Given the description of an element on the screen output the (x, y) to click on. 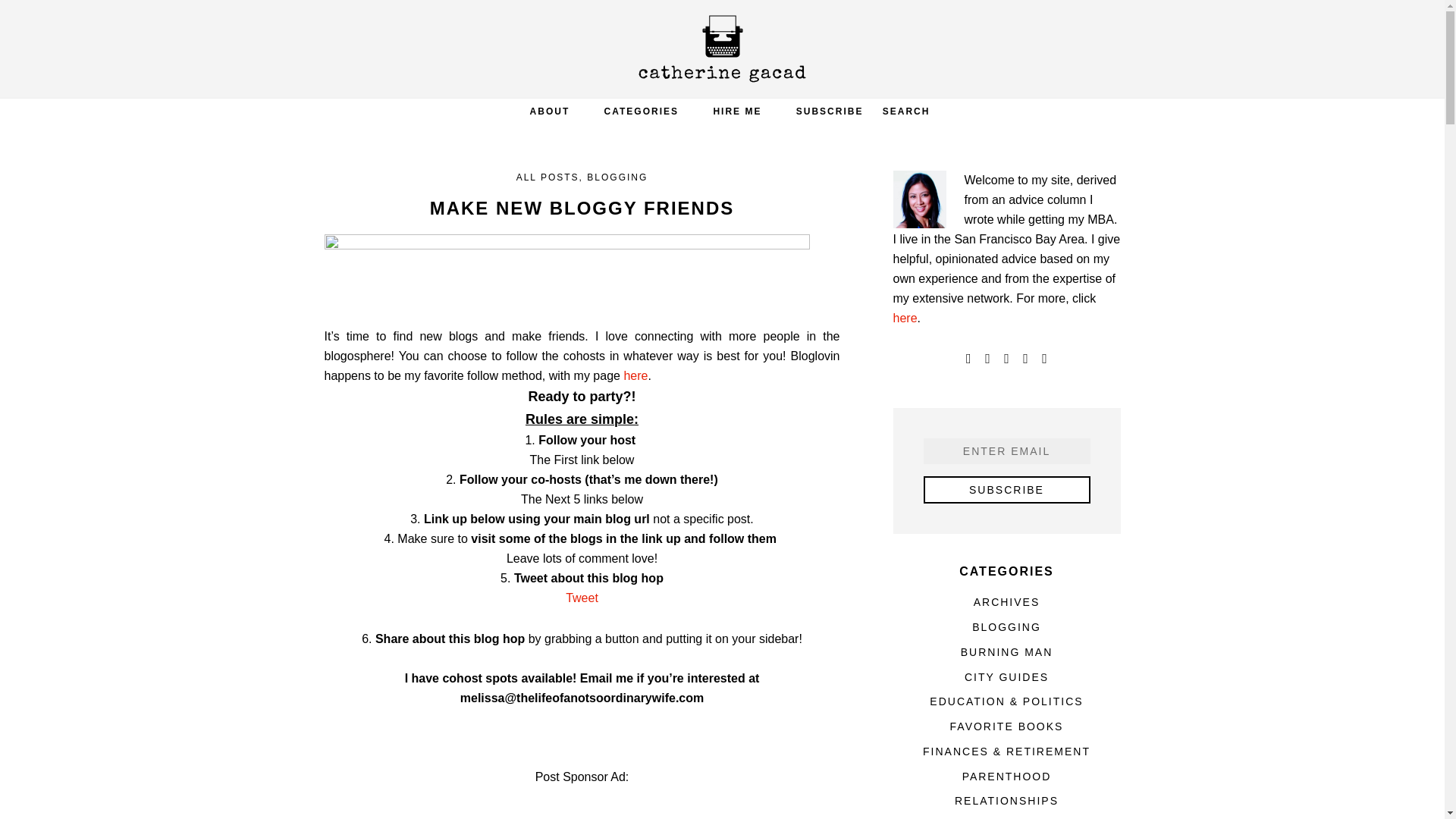
CATEGORIES (641, 111)
here (635, 375)
Tweet (582, 597)
SUBSCRIBE (829, 111)
ALL POSTS (547, 176)
Subscribe (1006, 489)
Catherine Gacad (721, 48)
ABOUT (550, 111)
BLOGGING (616, 176)
HIRE ME (736, 111)
